Given the description of an element on the screen output the (x, y) to click on. 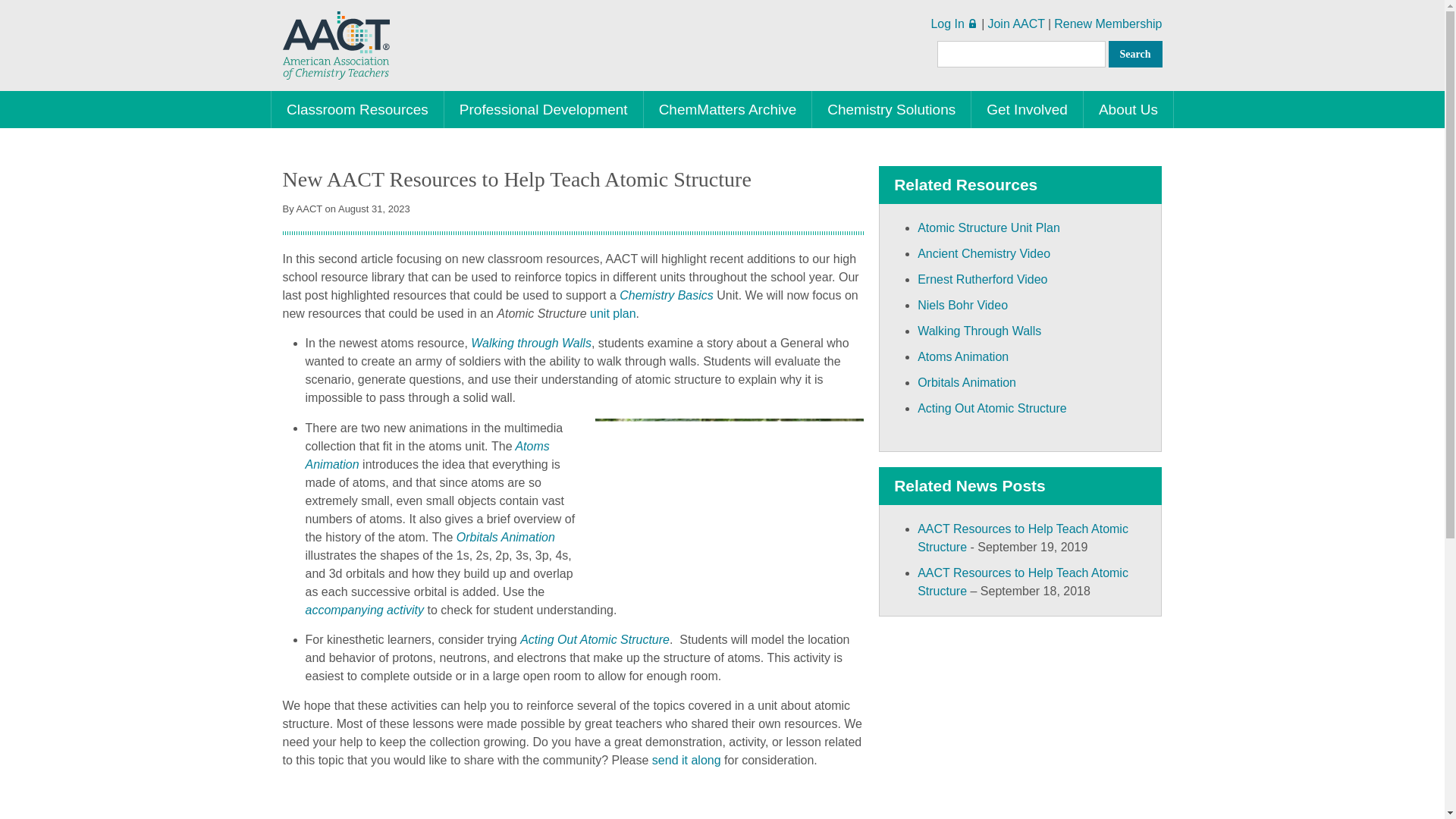
Professional Development (543, 108)
About Us (1128, 108)
ChemMatters Archive (727, 108)
Get Involved (1027, 108)
Join AACT (1016, 23)
Classroom Resources (357, 108)
Log In (946, 23)
Renew Membership (1107, 23)
Chemistry Solutions (891, 108)
Search (1134, 53)
